Given the description of an element on the screen output the (x, y) to click on. 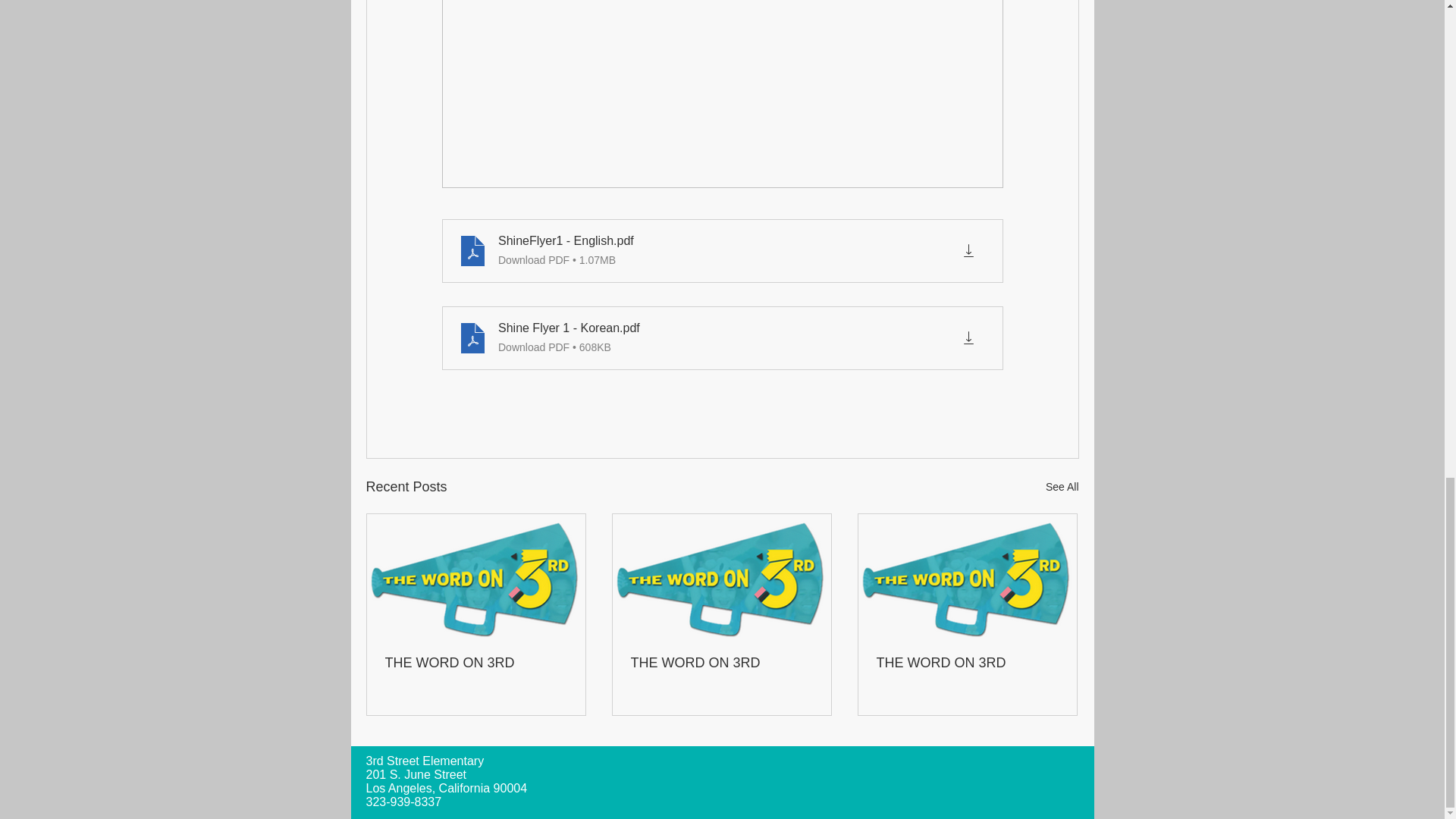
THE WORD ON 3RD (967, 662)
See All (1061, 486)
THE WORD ON 3RD (721, 662)
THE WORD ON 3RD (476, 662)
